Given the description of an element on the screen output the (x, y) to click on. 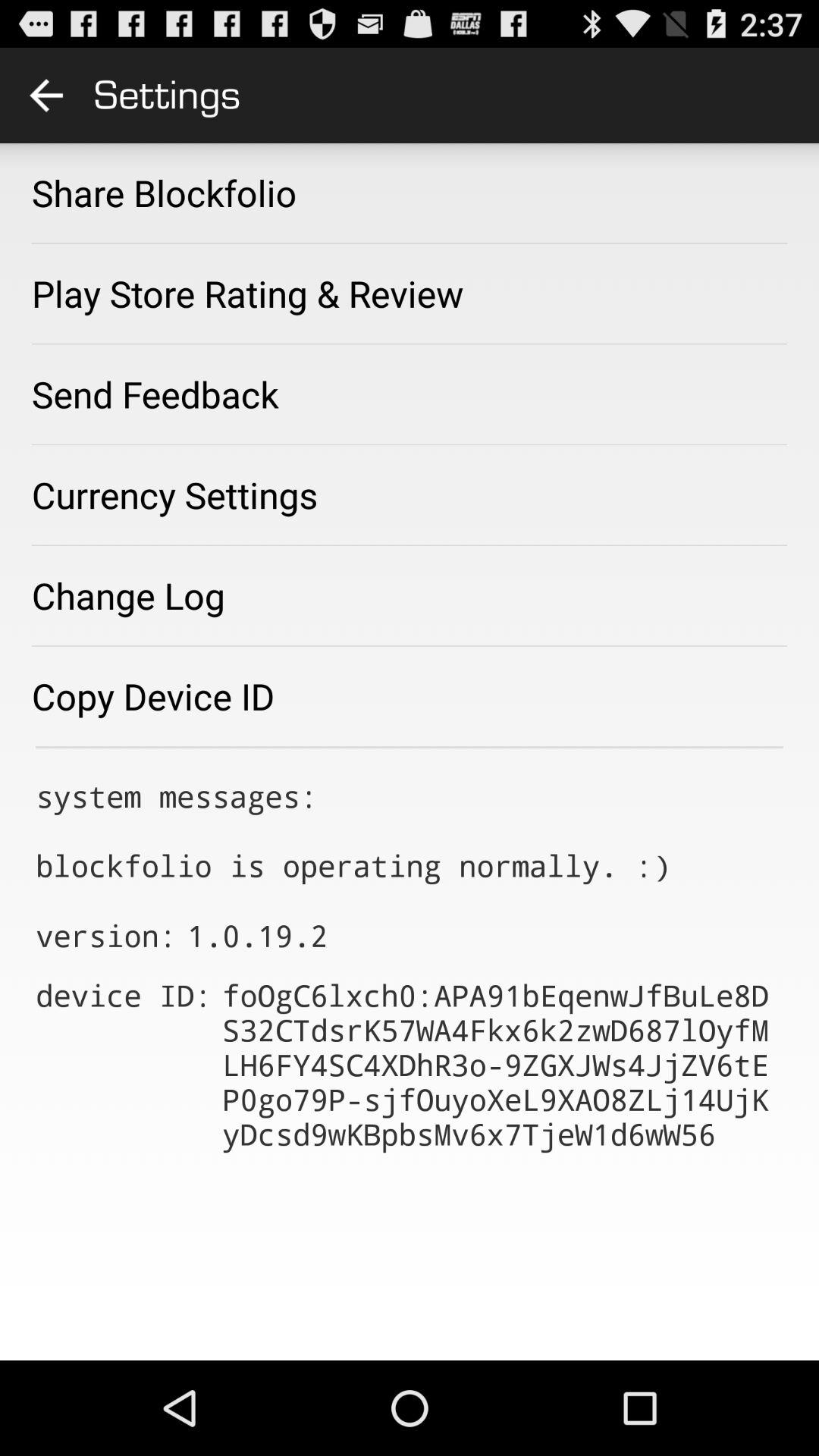
turn off the system messages blockfolio app (352, 830)
